Given the description of an element on the screen output the (x, y) to click on. 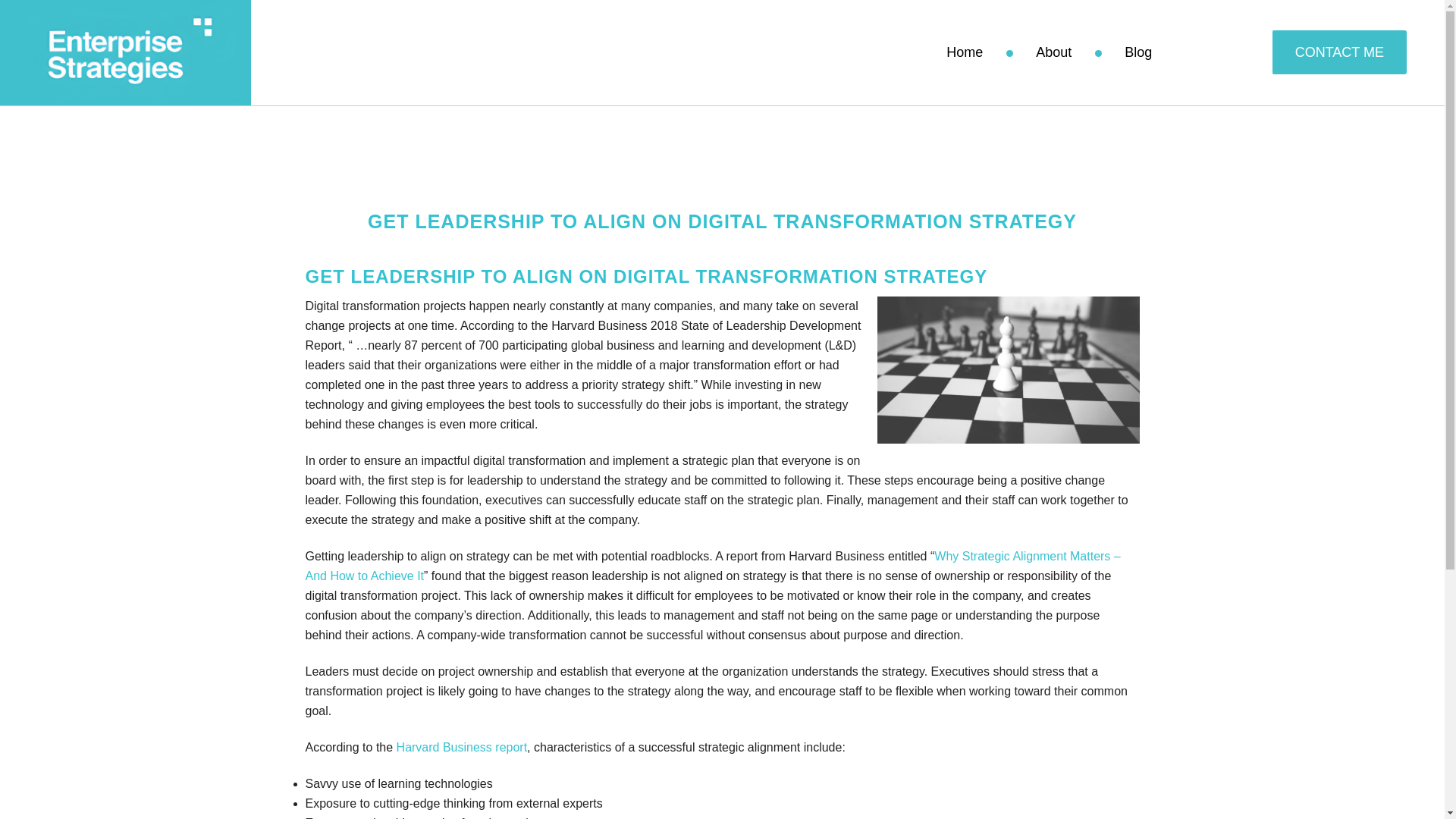
Harvard Business report (461, 747)
CONTACT ME (1338, 52)
Home (964, 52)
About (1053, 52)
Blog (1138, 52)
